Given the description of an element on the screen output the (x, y) to click on. 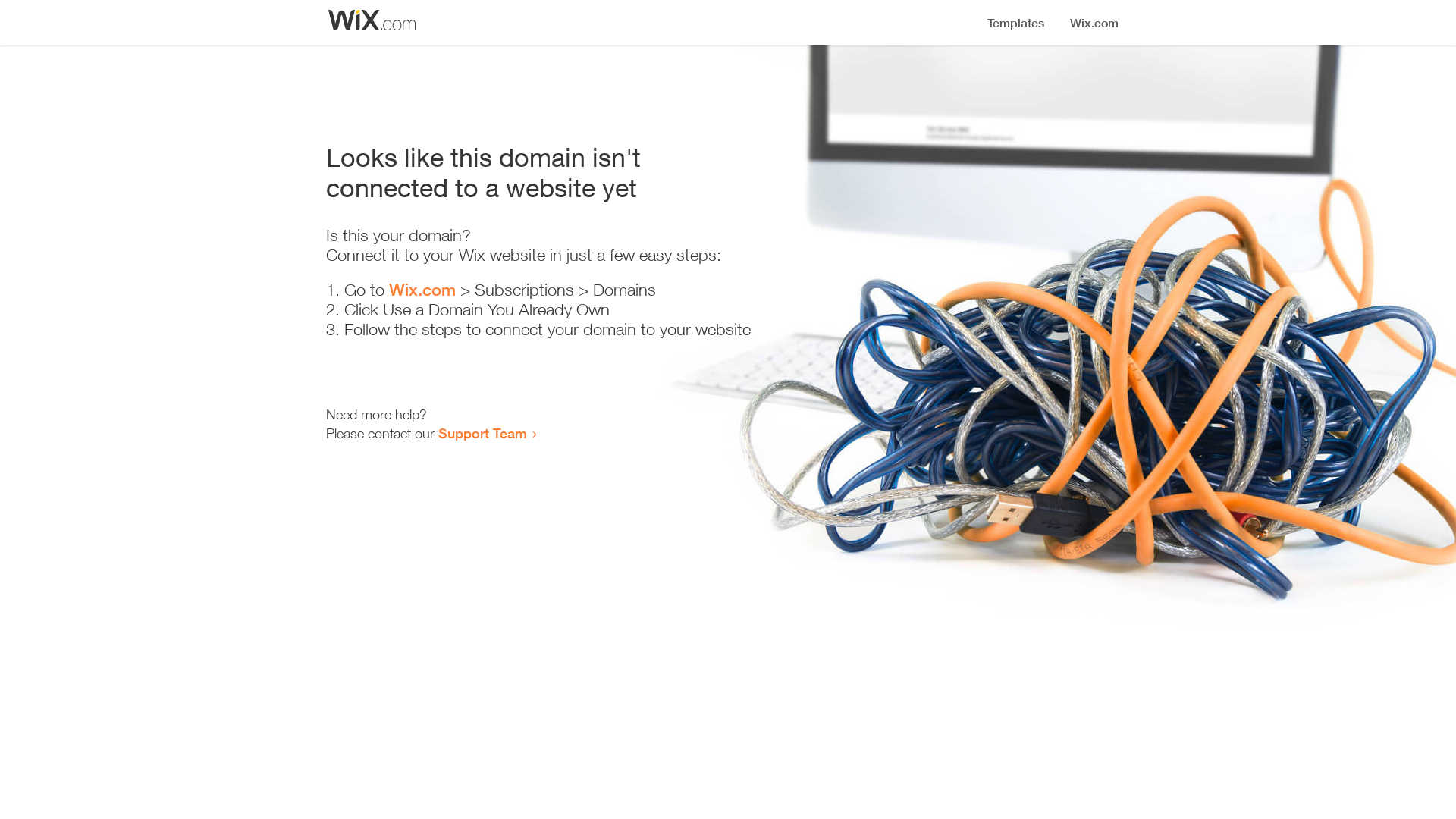
Wix.com Element type: text (422, 289)
Support Team Element type: text (482, 432)
